Given the description of an element on the screen output the (x, y) to click on. 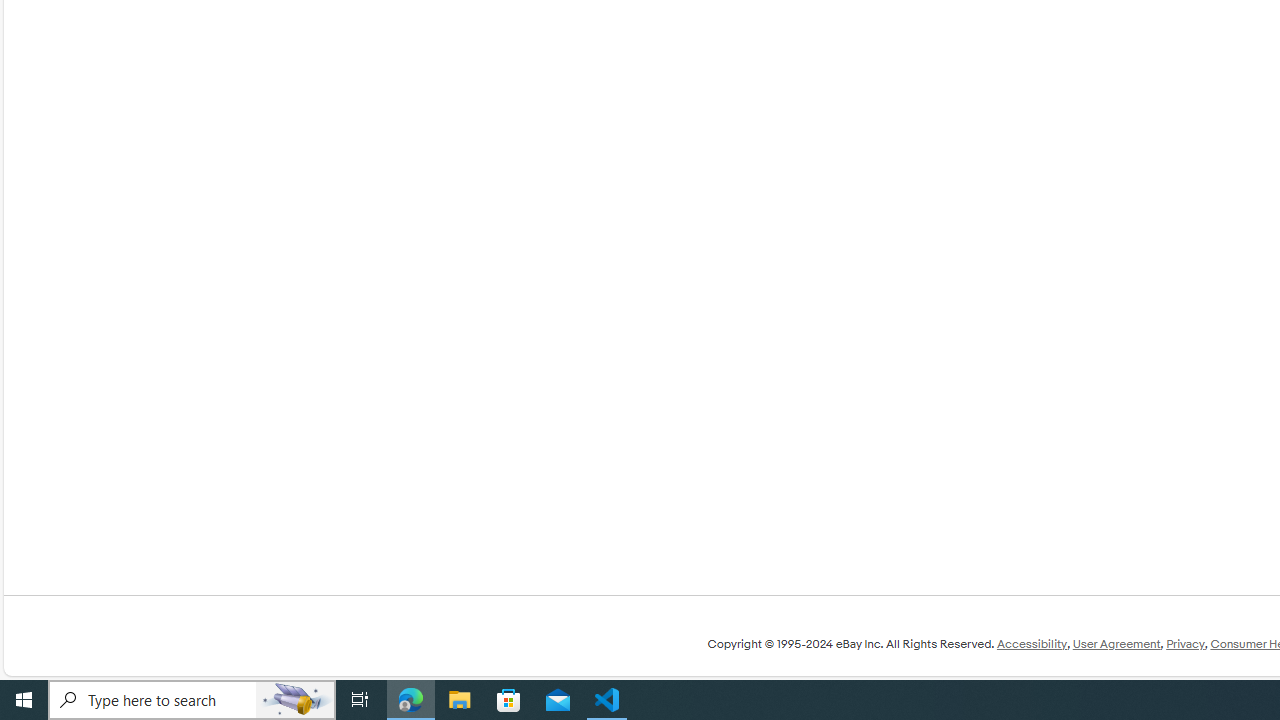
Accessibility (1031, 644)
User Agreement (1116, 644)
